Given the description of an element on the screen output the (x, y) to click on. 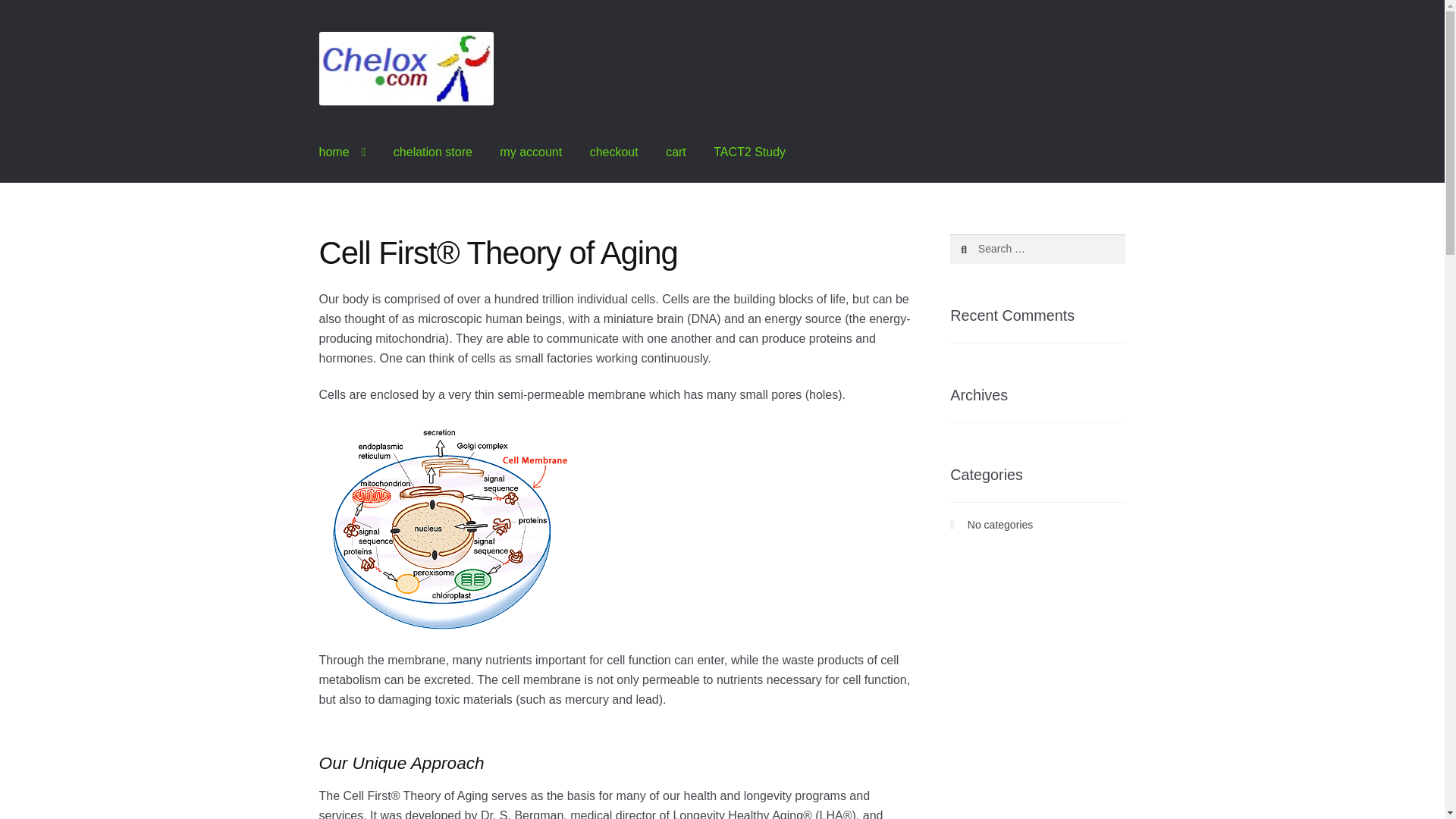
TACT2 Study (749, 151)
home (342, 151)
my account (530, 151)
checkout (614, 151)
chelation store (432, 151)
